Given the description of an element on the screen output the (x, y) to click on. 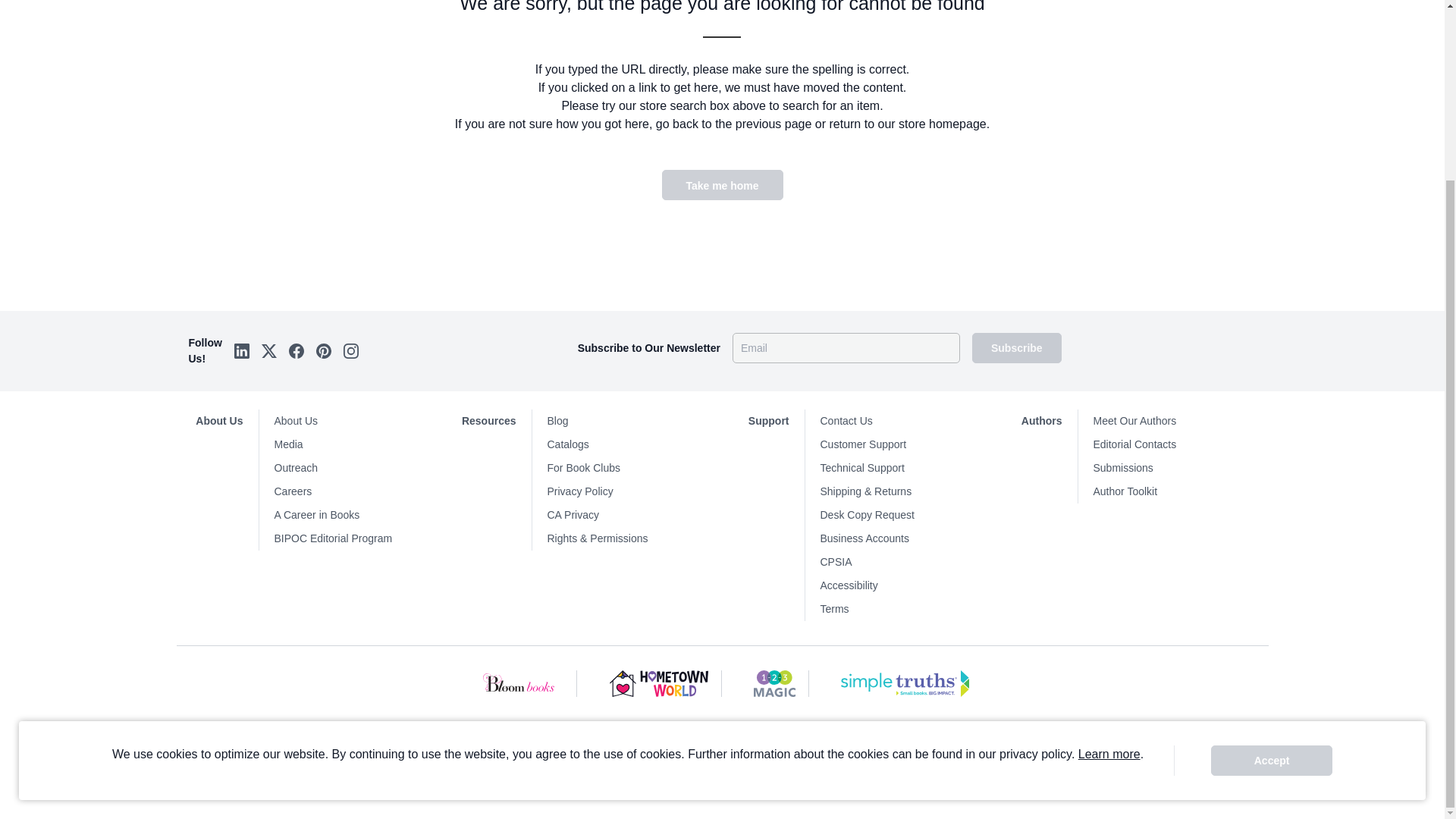
Author Toolkit (1180, 491)
Hometown World (659, 683)
Learn more (1109, 532)
123 Magic (774, 683)
Simple Truths (905, 683)
Bloom Book (520, 683)
Submissions (1180, 467)
Blog (634, 421)
